Given the description of an element on the screen output the (x, y) to click on. 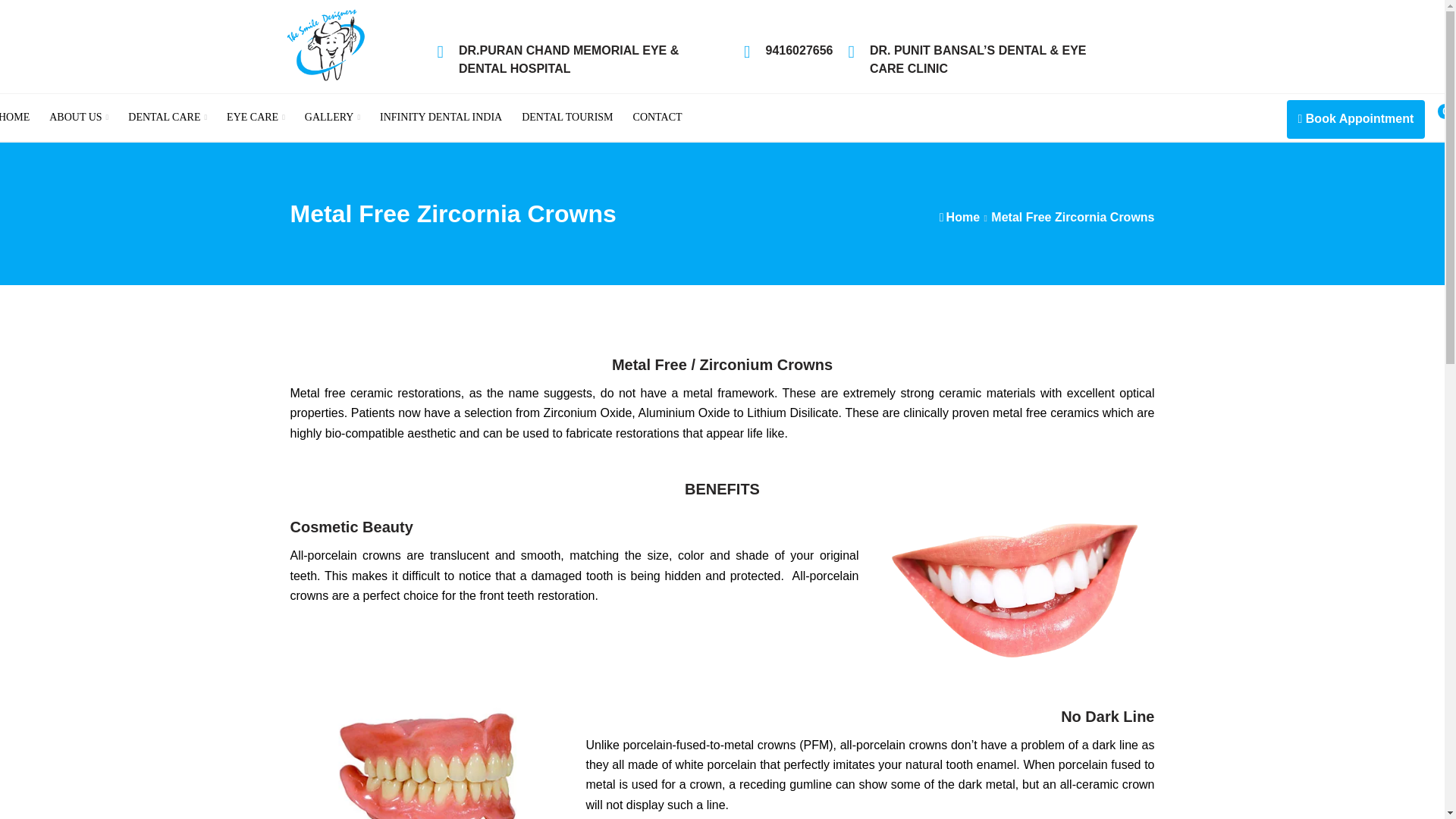
ABOUT US (78, 117)
EYE CARE (255, 117)
DENTAL CARE (167, 117)
